Given the description of an element on the screen output the (x, y) to click on. 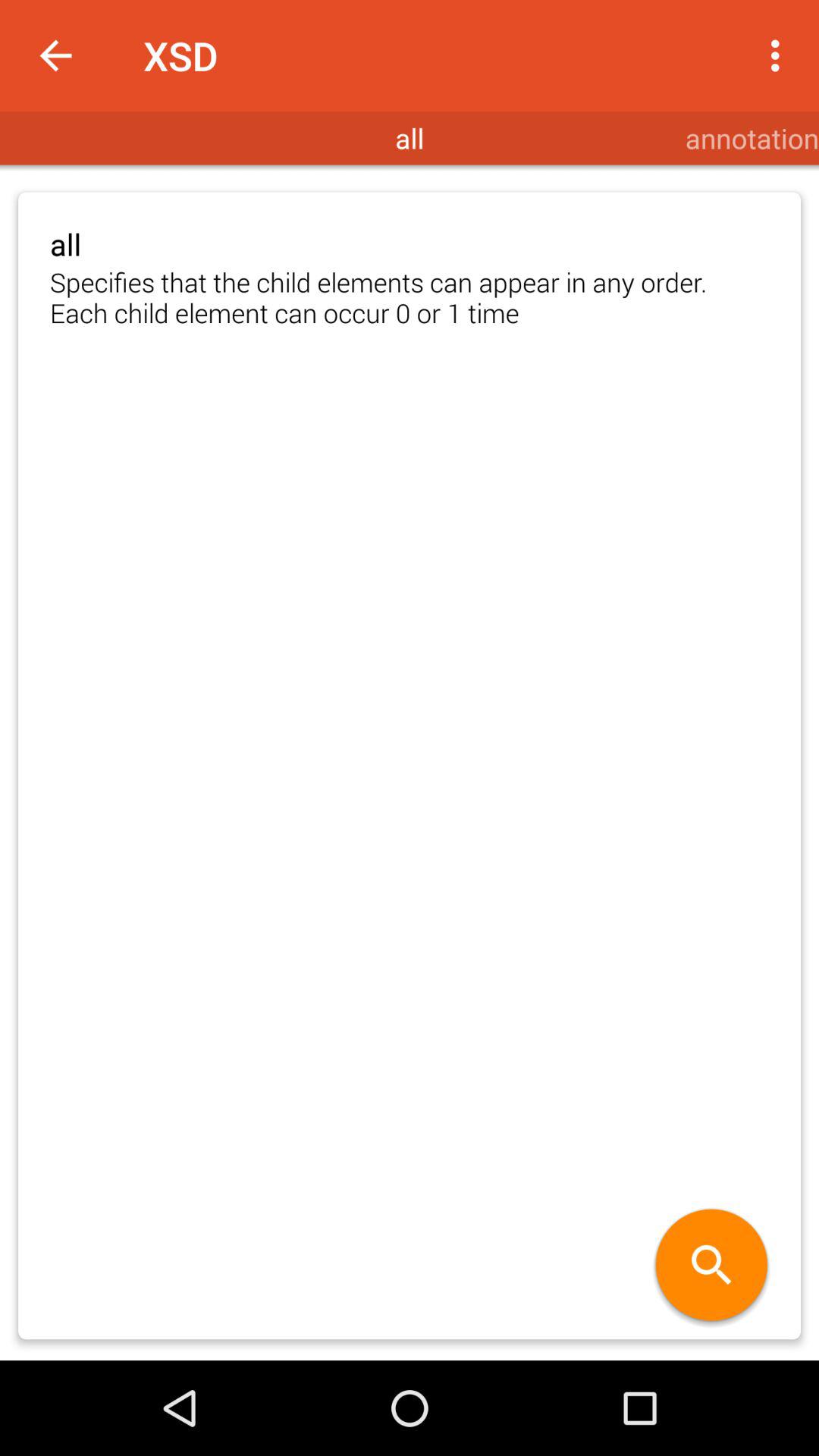
launch icon next to the xsd icon (55, 55)
